Given the description of an element on the screen output the (x, y) to click on. 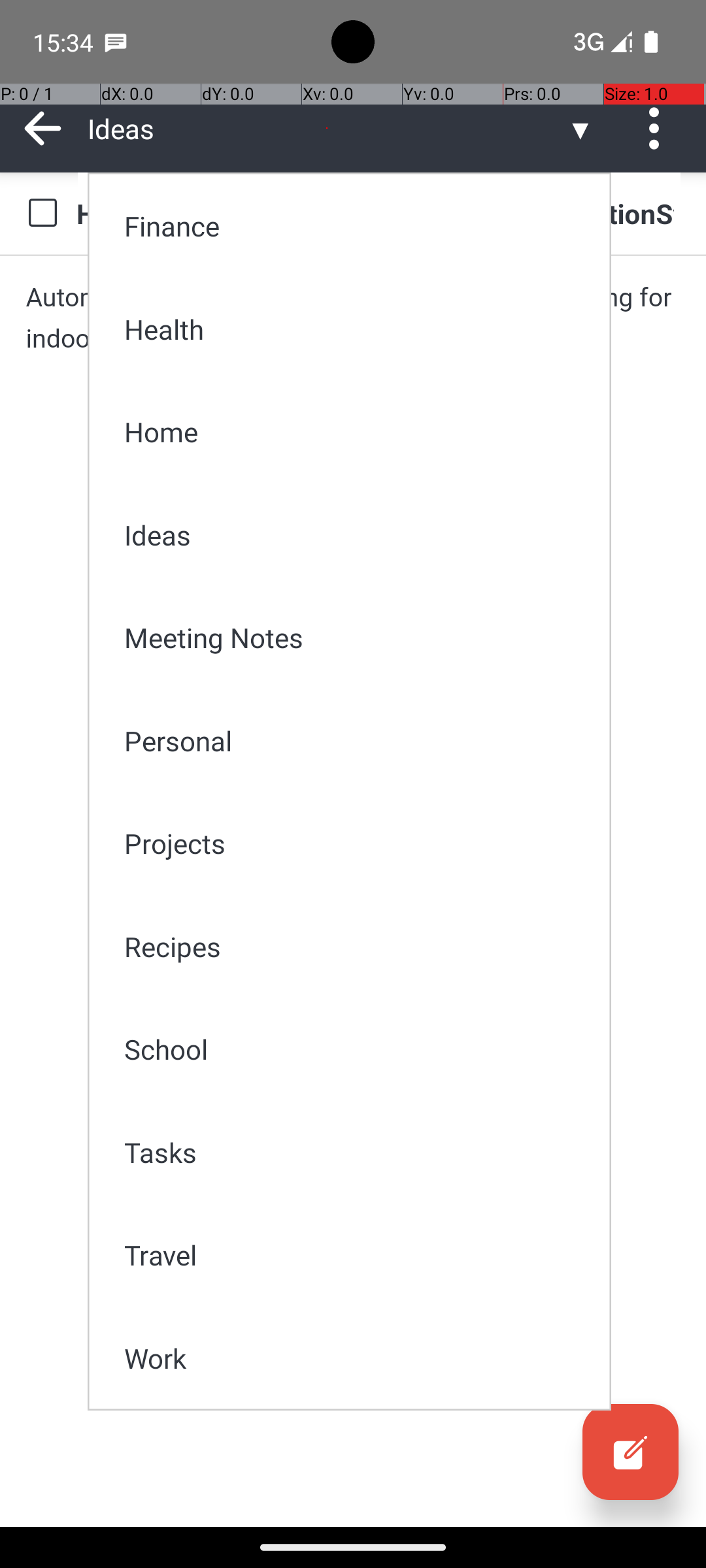
Finance Element type: android.widget.TextView (358, 225)
Health Element type: android.widget.TextView (358, 328)
Ideas Element type: android.widget.TextView (358, 534)
Meeting Notes Element type: android.widget.TextView (358, 636)
Personal Element type: android.widget.TextView (358, 740)
Projects Element type: android.widget.TextView (358, 842)
Recipes Element type: android.widget.TextView (358, 945)
School Element type: android.widget.TextView (358, 1048)
Tasks Element type: android.widget.TextView (358, 1151)
Travel Element type: android.widget.TextView (358, 1254)
Work Element type: android.widget.TextView (358, 1357)
SMS Messenger notification: +10214033213 Element type: android.widget.ImageView (115, 41)
